Given the description of an element on the screen output the (x, y) to click on. 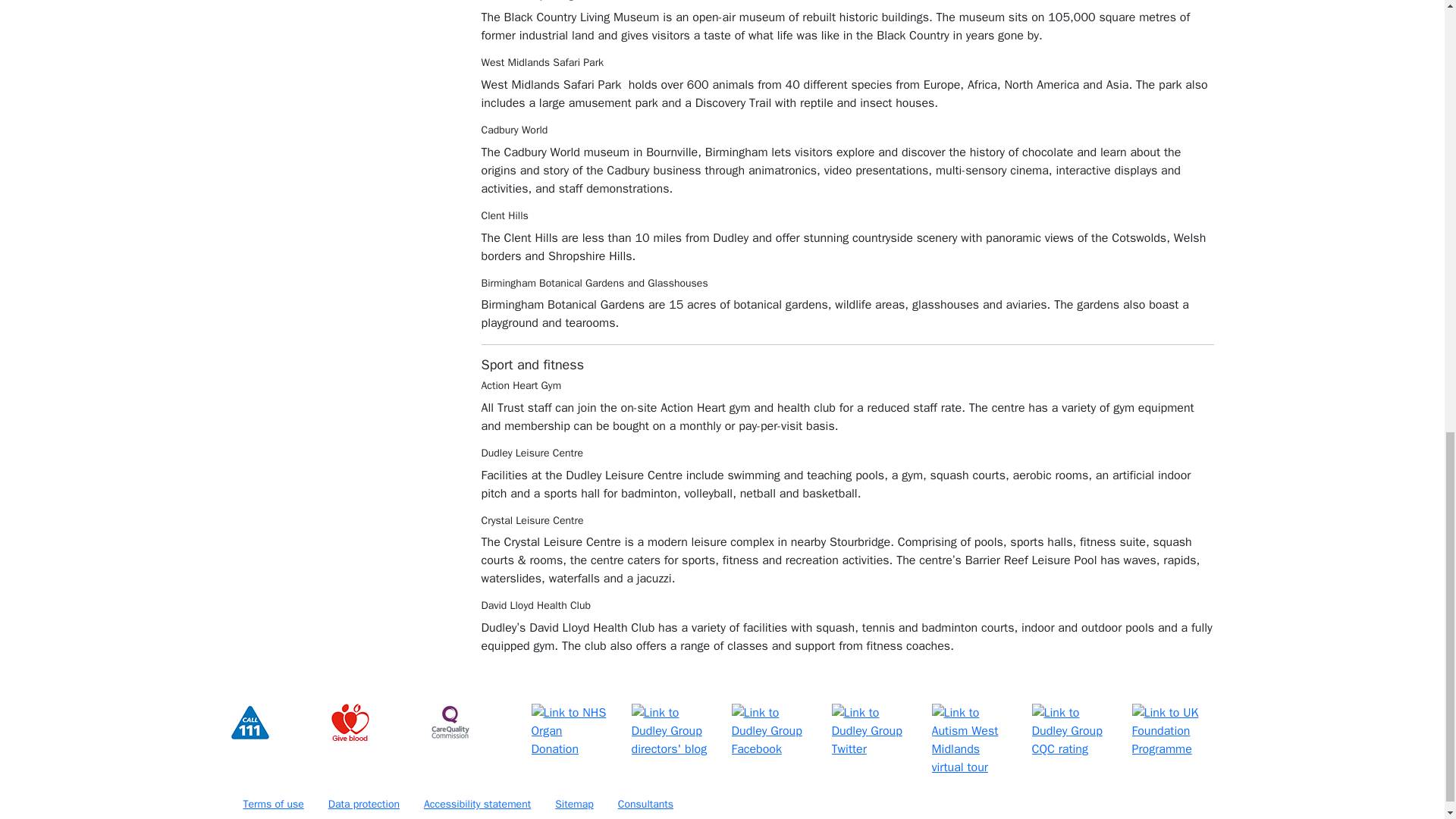
Dudley Group CQC rating (1071, 730)
NHS Organ Donation (571, 730)
Dudley Group Facebook (771, 730)
NHS England 111 (248, 722)
Autism West Midlands virtual tour (972, 739)
UK Foundation Programme (1171, 730)
CQC (449, 722)
Dudley Group directors' blog (671, 730)
NHS Blood Donation (349, 722)
Dudley Group Twitter (871, 730)
